Given the description of an element on the screen output the (x, y) to click on. 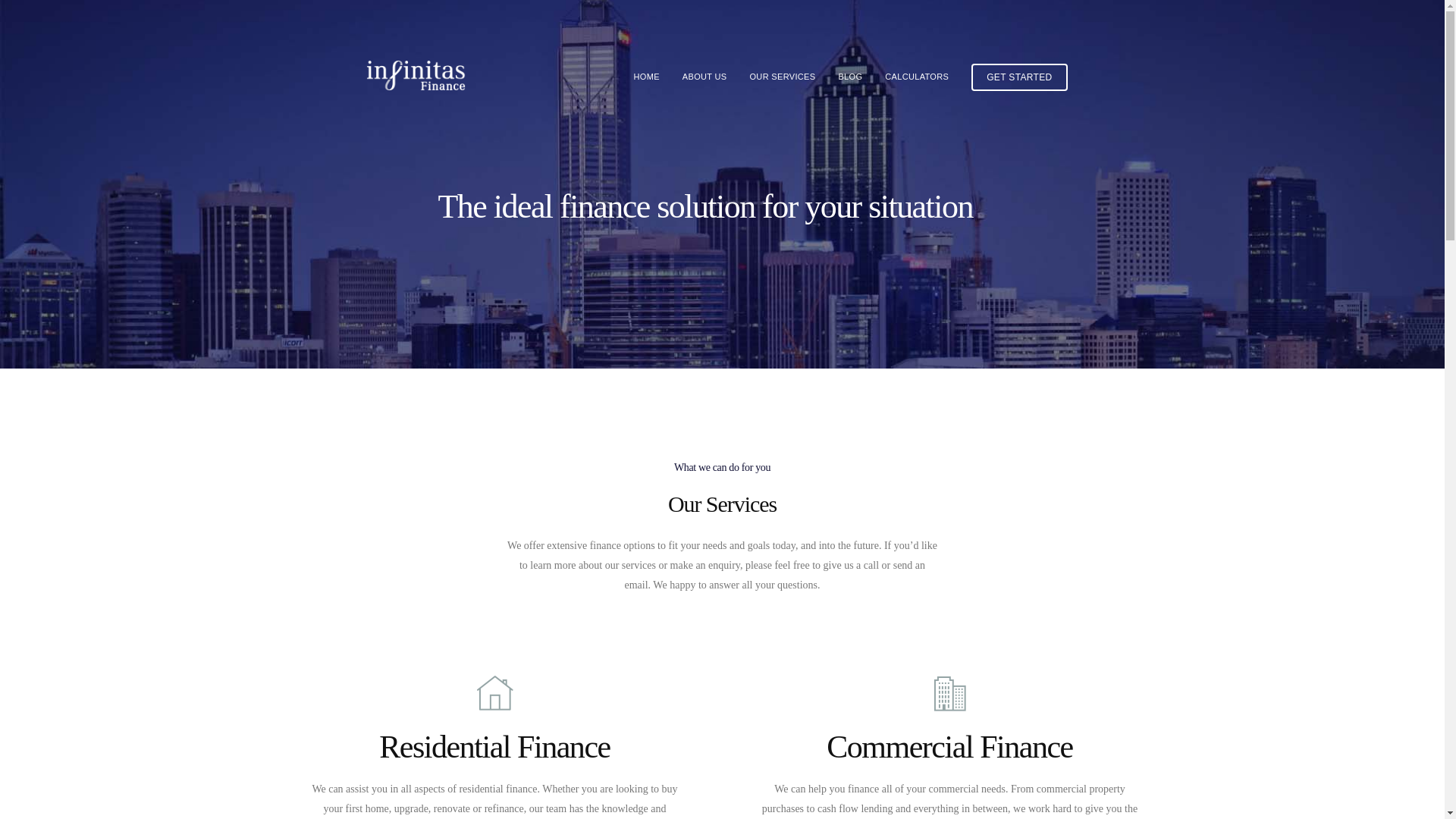
ABOUT US Element type: text (704, 76)
OUR SERVICES Element type: text (781, 76)
CALCULATORS Element type: text (916, 76)
HOME Element type: text (645, 76)
GET STARTED Element type: text (1019, 76)
BLOG Element type: text (849, 76)
